Given the description of an element on the screen output the (x, y) to click on. 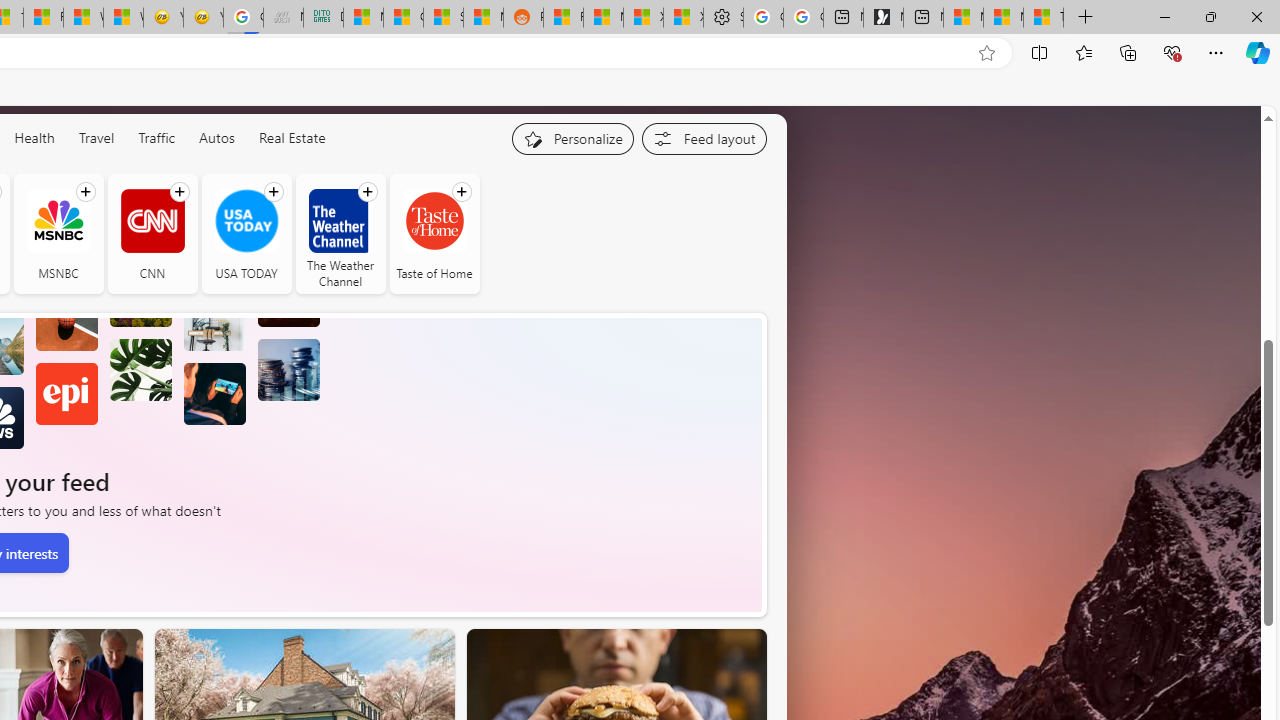
Fitness - MSN (43, 17)
USA TODAY (246, 220)
Feed settings (703, 138)
MSNBC (57, 233)
The Weather Channel (340, 220)
These 3 Stocks Pay You More Than 5% to Own Them (1043, 17)
